Given the description of an element on the screen output the (x, y) to click on. 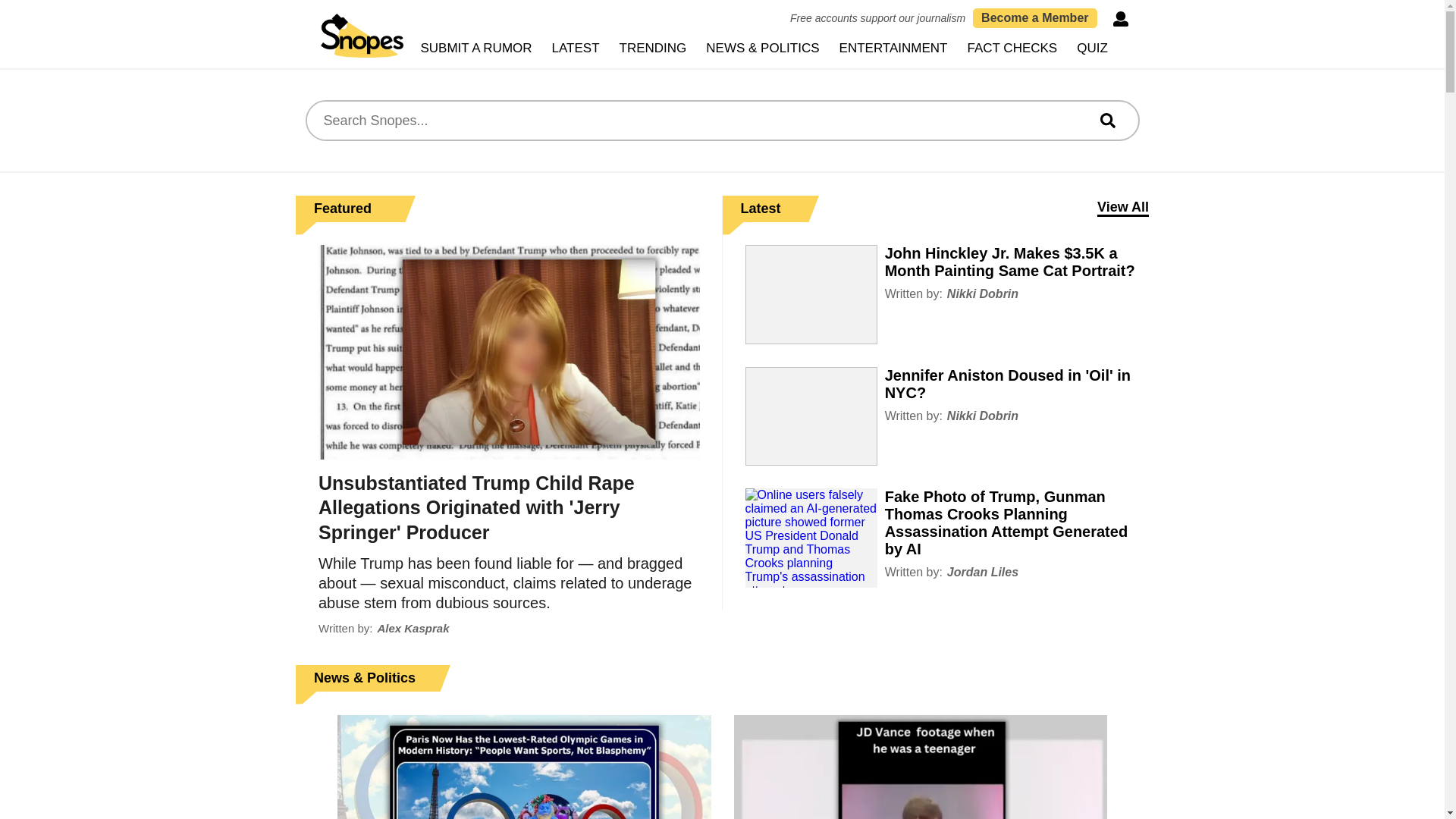
LATEST (576, 47)
TRENDING (653, 47)
View All (1122, 208)
QUIZ (1092, 47)
SUBMIT A RUMOR (475, 47)
FACT CHECKS (1011, 47)
ENTERTAINMENT (893, 47)
Become a Member (1034, 17)
